Given the description of an element on the screen output the (x, y) to click on. 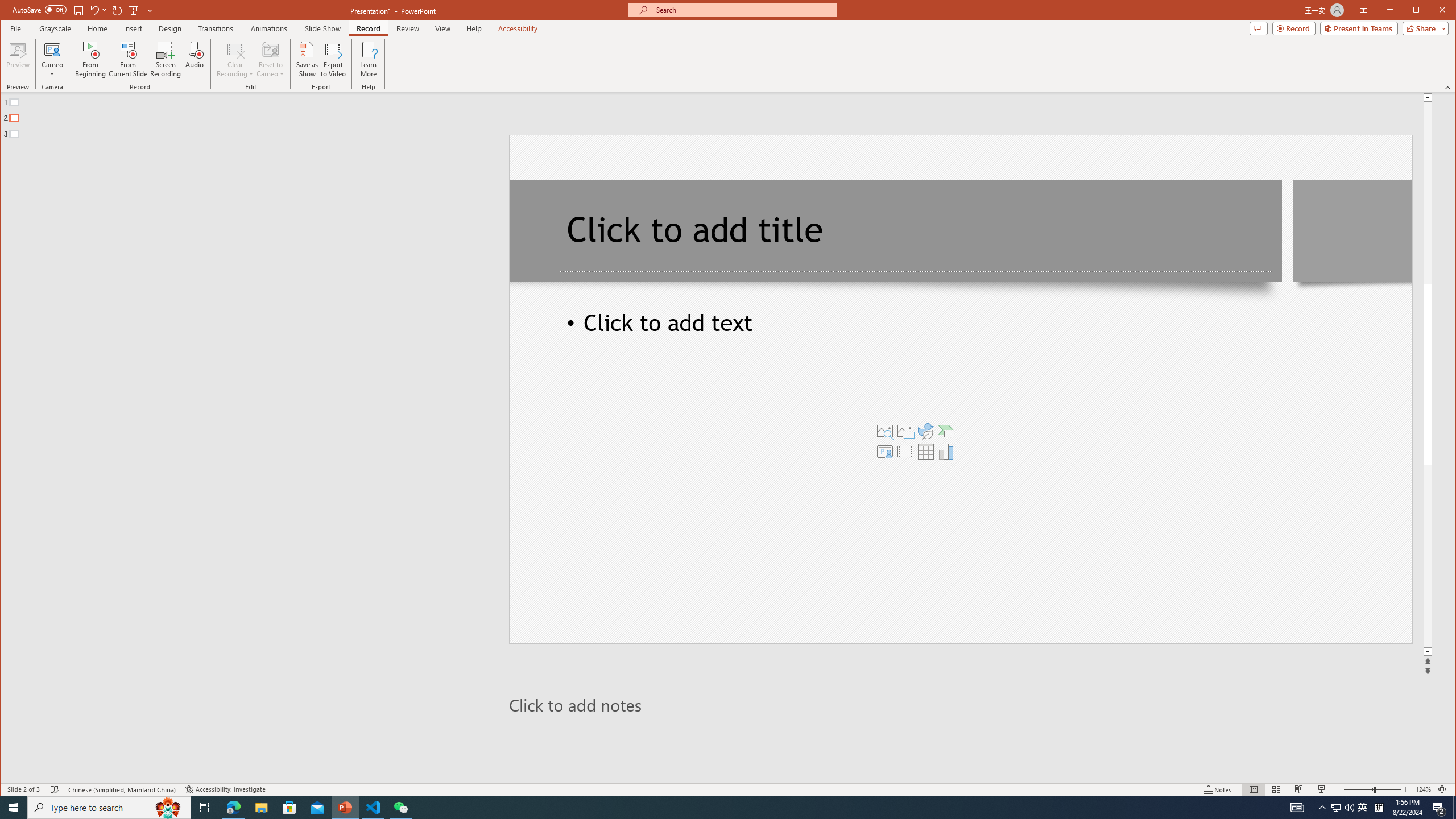
Reset to Cameo (269, 59)
Insert Chart (946, 451)
From Beginning... (90, 59)
Zoom 124% (1422, 789)
